Given the description of an element on the screen output the (x, y) to click on. 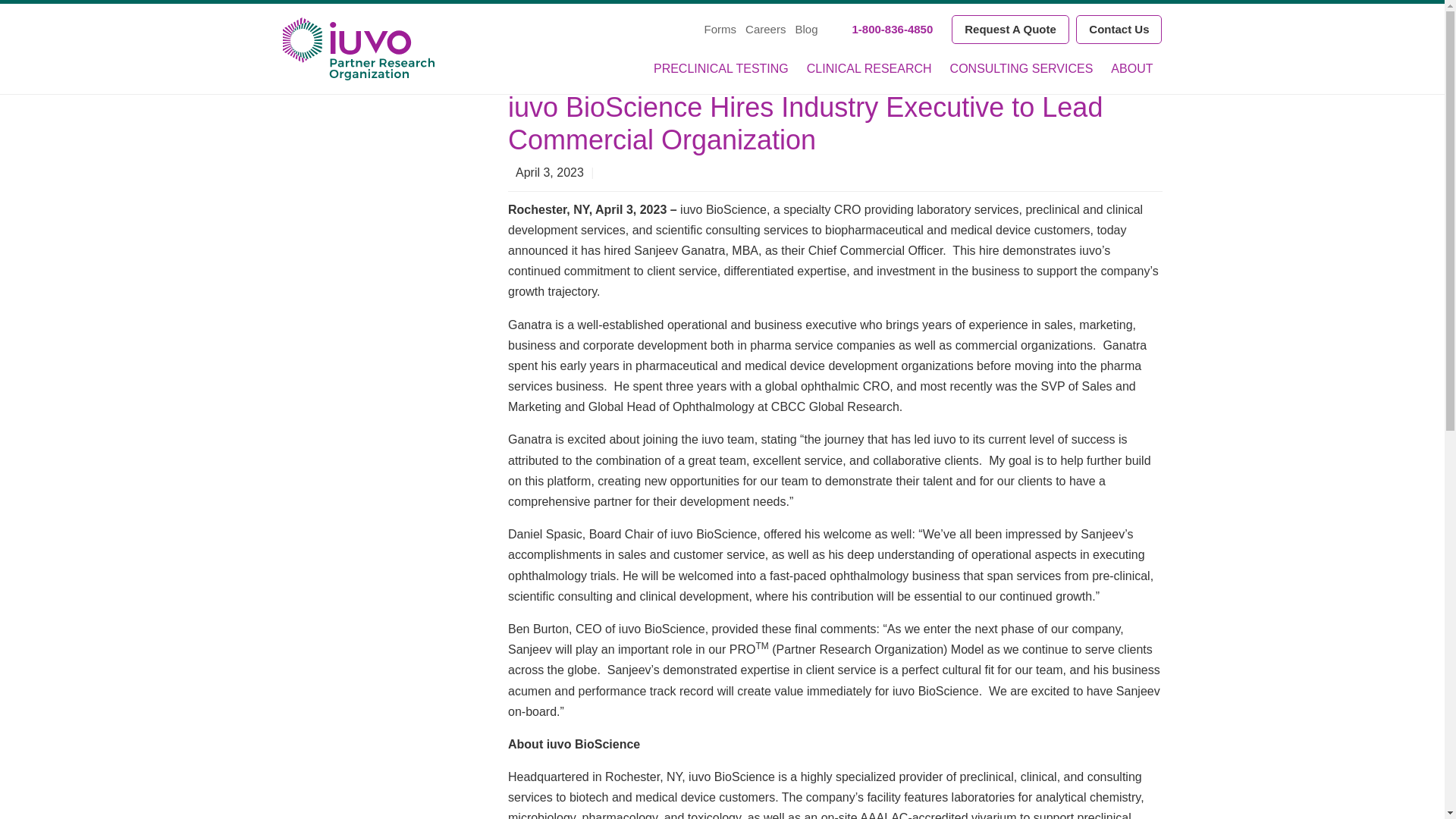
Forms (720, 29)
PRECLINICAL TESTING (721, 68)
CONSULTING SERVICES (1021, 68)
ABOUT (1131, 68)
Contact Us (1118, 29)
CLINICAL RESEARCH (868, 68)
Careers (765, 29)
Blog (805, 29)
Request A Quote (1010, 29)
